Given the description of an element on the screen output the (x, y) to click on. 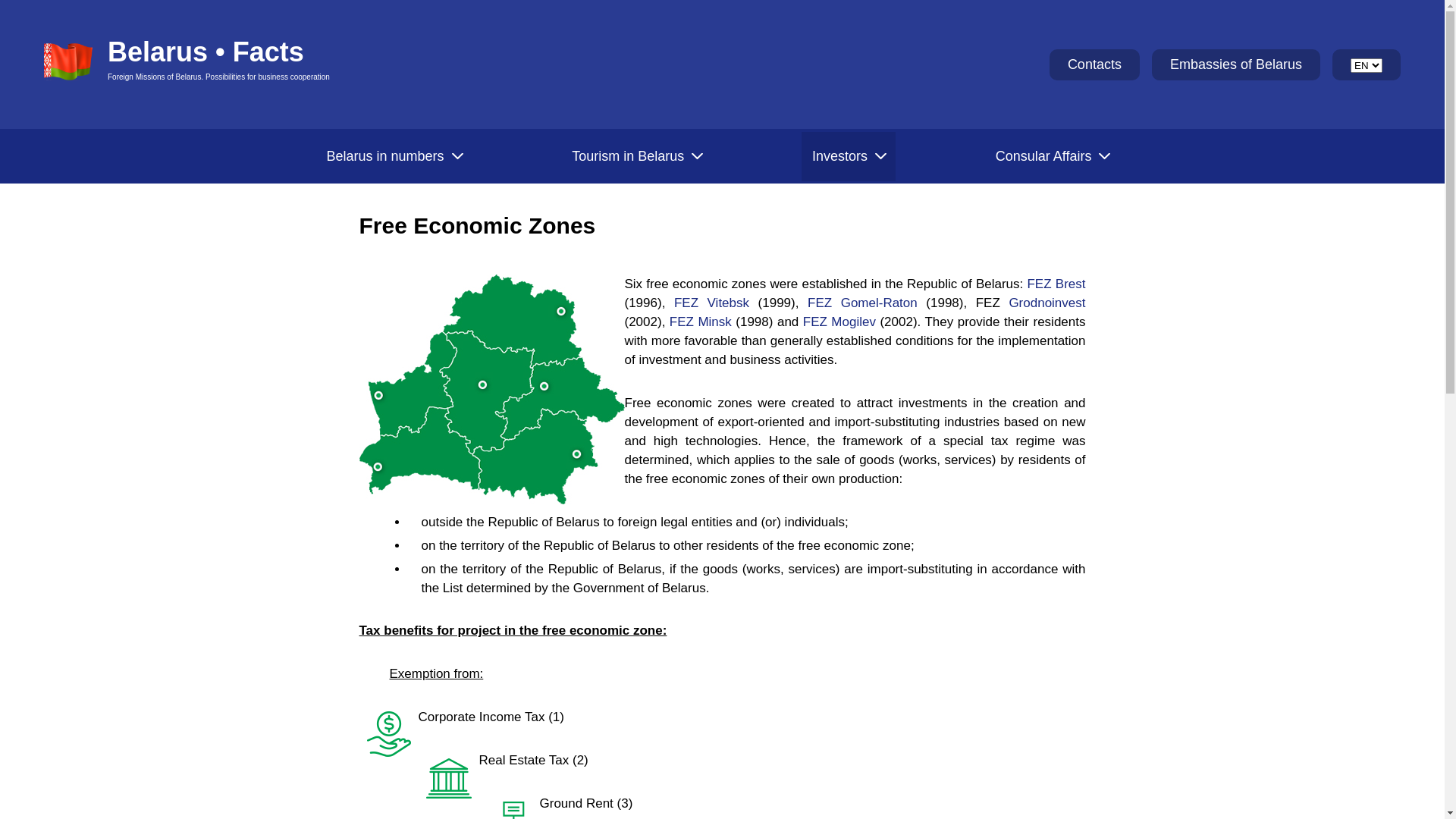
Tourism in Belarus Element type: text (636, 156)
Embassies of Belarus Element type: text (1235, 63)
Belarus in numbers Element type: text (393, 156)
Contacts Element type: text (1094, 63)
Grodnoinvest Element type: text (1046, 302)
Investors Element type: text (848, 156)
FEZ Gomel-Raton Element type: text (862, 302)
FEZ Minsk Element type: text (700, 321)
FEZ Mogilev Element type: text (839, 321)
Consular Affairs Element type: text (1052, 156)
FEZ Brest Element type: text (1055, 283)
FEZ Vitebsk Element type: text (711, 302)
